Given the description of an element on the screen output the (x, y) to click on. 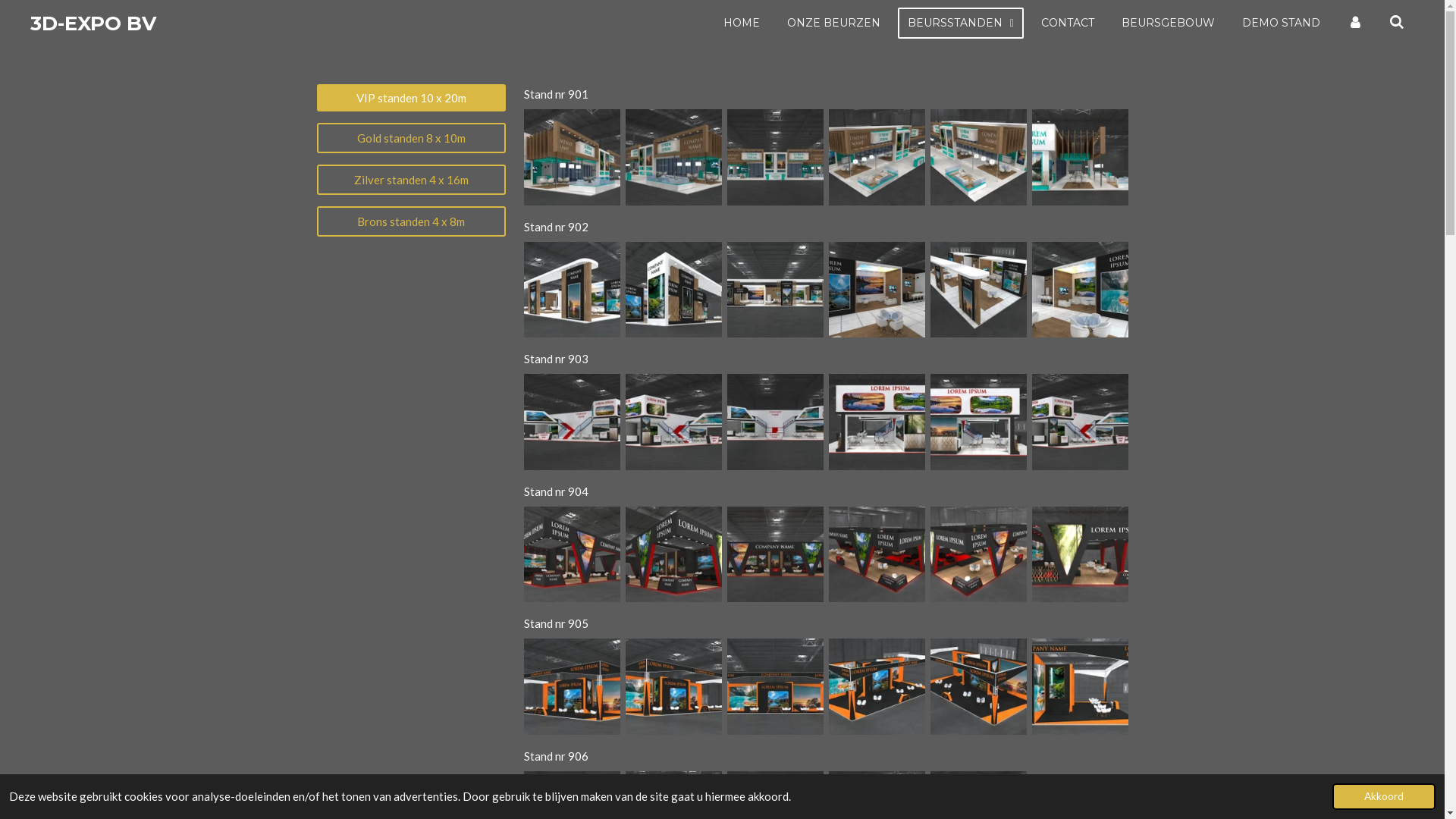
Zoeken Element type: hover (1396, 22)
BEURSSTANDEN Element type: text (960, 22)
Akkoord Element type: text (1383, 796)
CONTACT Element type: text (1067, 22)
Zilver standen 4 x 16m Element type: text (411, 179)
BEURSGEBOUW Element type: text (1167, 22)
Account Element type: hover (1354, 22)
Brons standen 4 x 8m Element type: text (411, 221)
DEMO STAND Element type: text (1281, 22)
3D-EXPO BV Element type: text (93, 22)
VIP standen 10 x 20m Element type: text (411, 97)
HOME Element type: text (741, 22)
ONZE BEURZEN Element type: text (833, 22)
Gold standen 8 x 10m Element type: text (411, 137)
